Given the description of an element on the screen output the (x, y) to click on. 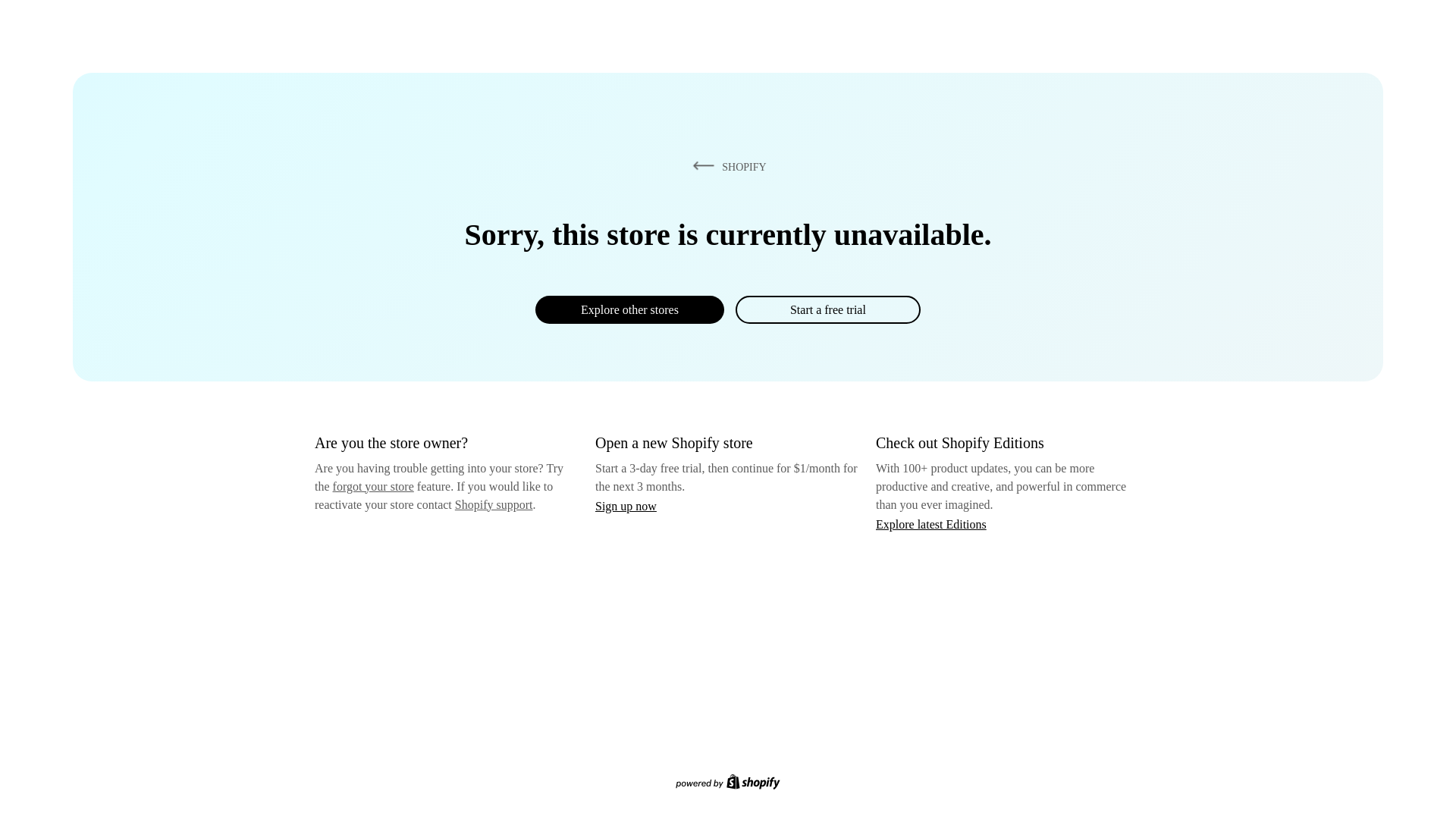
Explore latest Editions (931, 523)
Shopify support (493, 504)
Start a free trial (827, 309)
Explore other stores (629, 309)
Sign up now (625, 505)
SHOPIFY (726, 166)
forgot your store (373, 486)
